Given the description of an element on the screen output the (x, y) to click on. 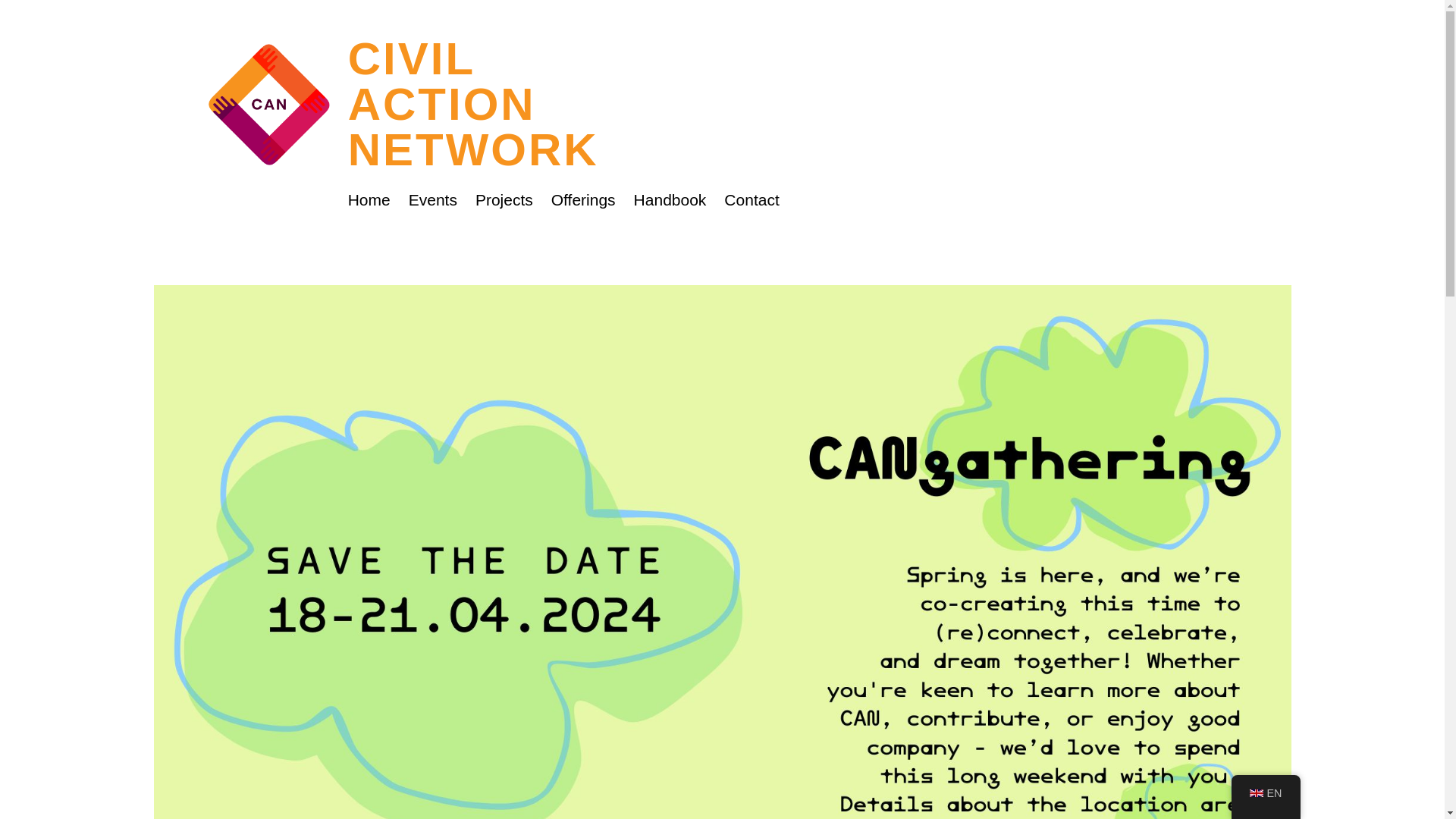
Offerings (583, 200)
Contact (472, 104)
Projects (750, 200)
Home (504, 200)
English (368, 200)
Events (1256, 792)
EN (433, 200)
Handbook (1265, 792)
